Given the description of an element on the screen output the (x, y) to click on. 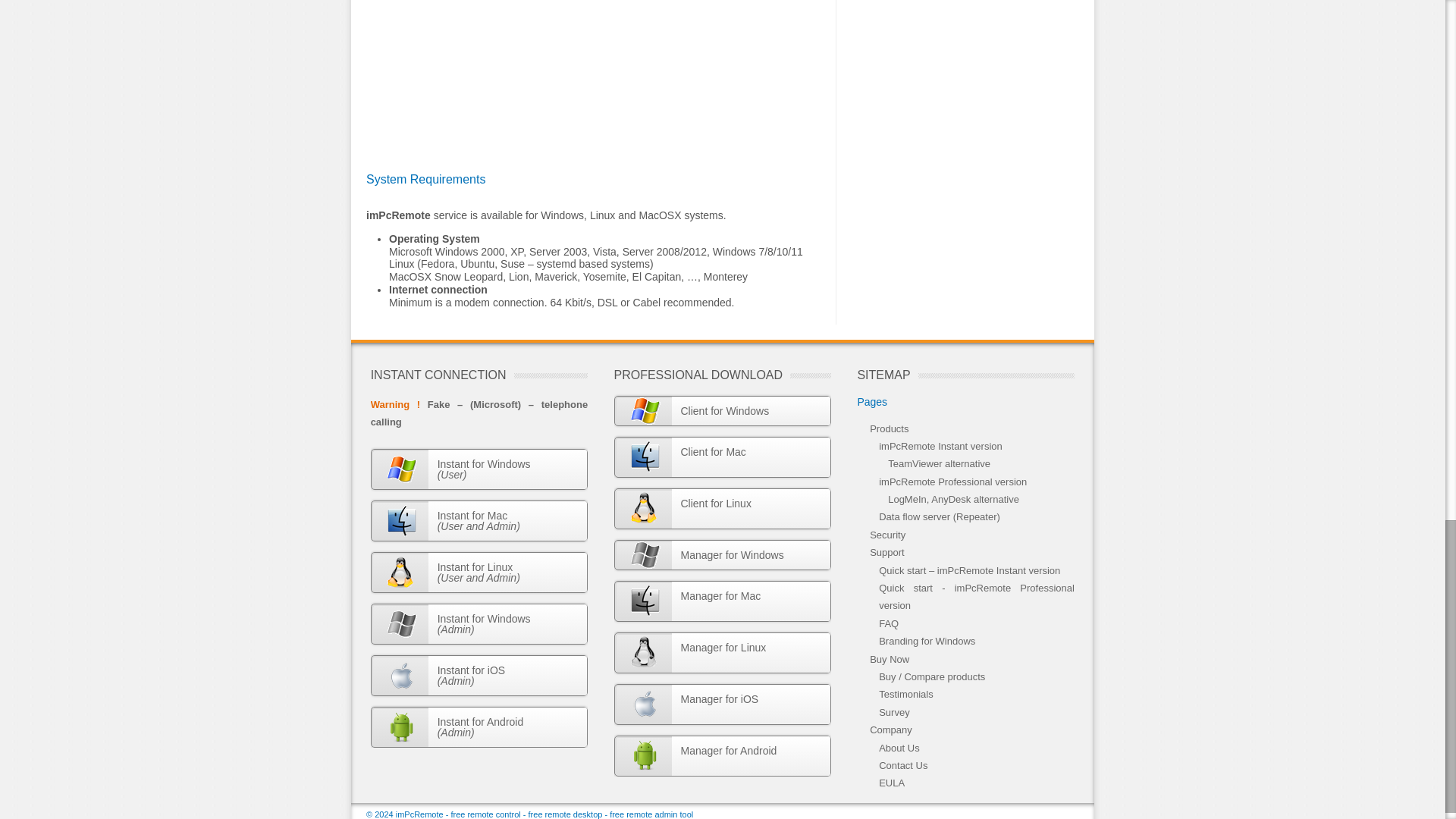
Client for Windows (721, 456)
Manager for Windows (721, 410)
YouTube player (721, 554)
